Given the description of an element on the screen output the (x, y) to click on. 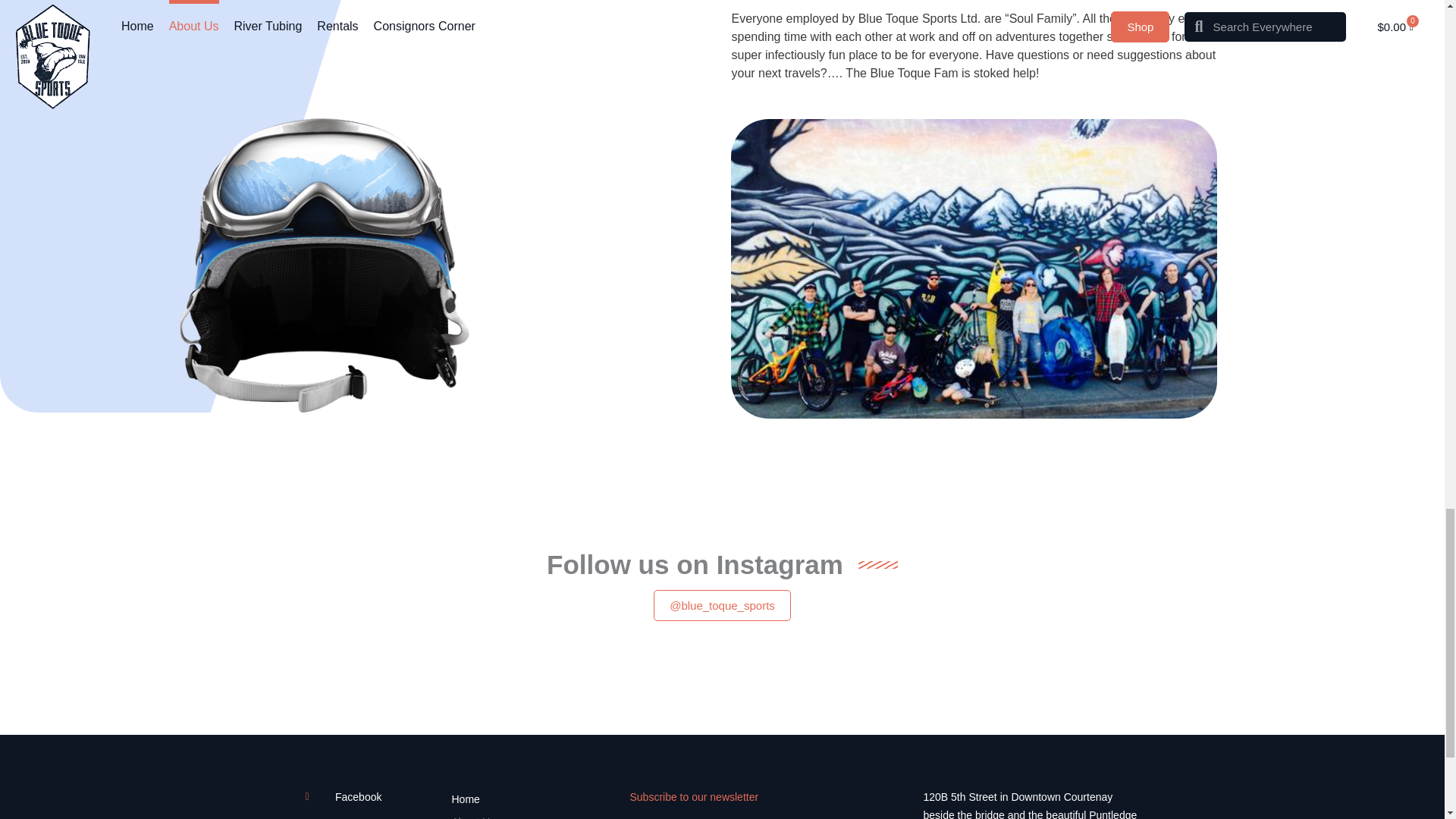
Facebook (369, 796)
About Us (532, 814)
Home (532, 798)
